Given the description of an element on the screen output the (x, y) to click on. 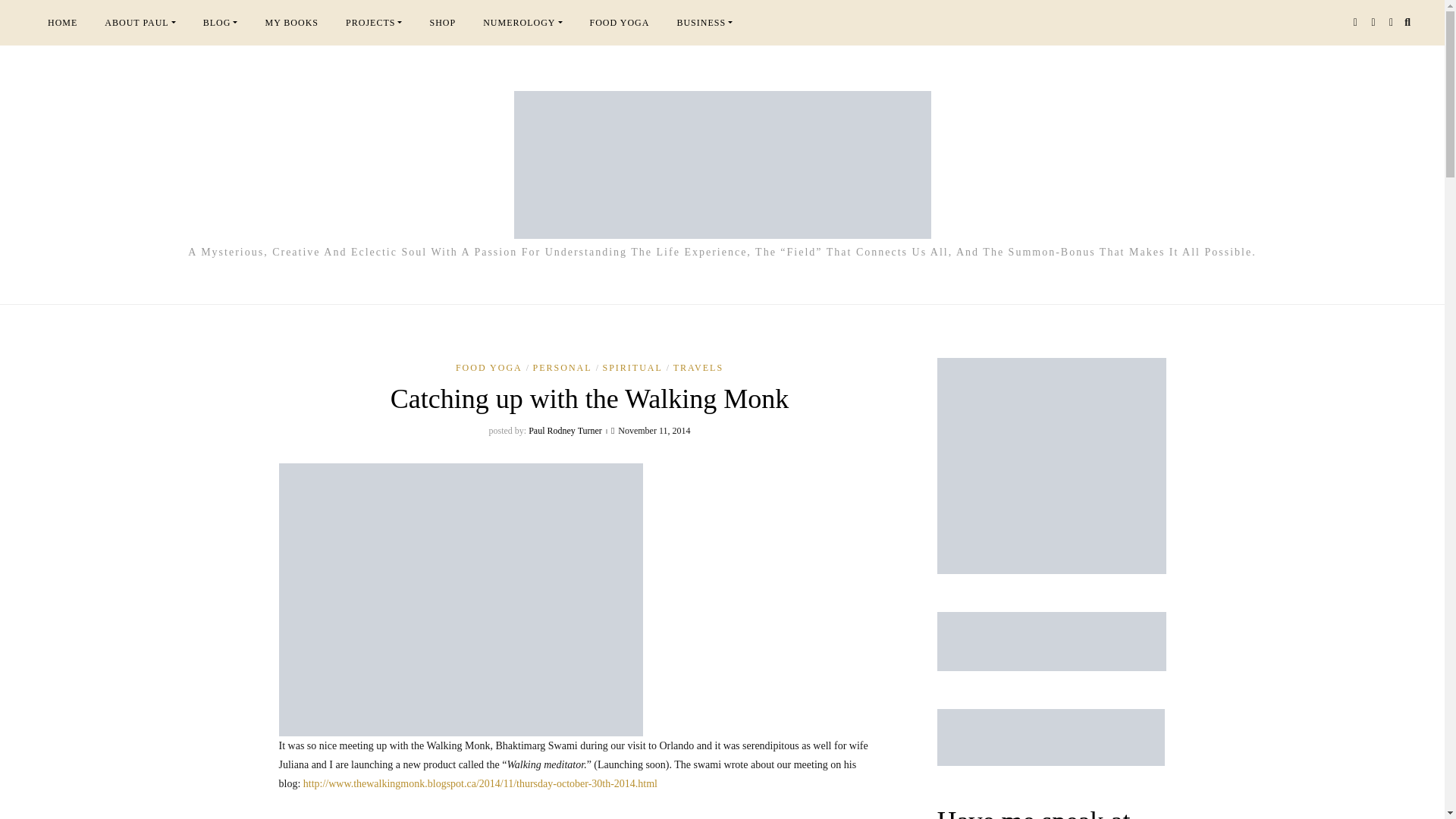
SPIRITUAL (635, 367)
MY BOOKS (290, 22)
FOOD YOGA (492, 367)
FOOD YOGA (619, 22)
SHOP (441, 22)
Posts by Paul Rodney Turner (565, 430)
ABOUT PAUL (139, 22)
HOME (61, 22)
NUMEROLOGY (521, 22)
PROJECTS (372, 22)
